Given the description of an element on the screen output the (x, y) to click on. 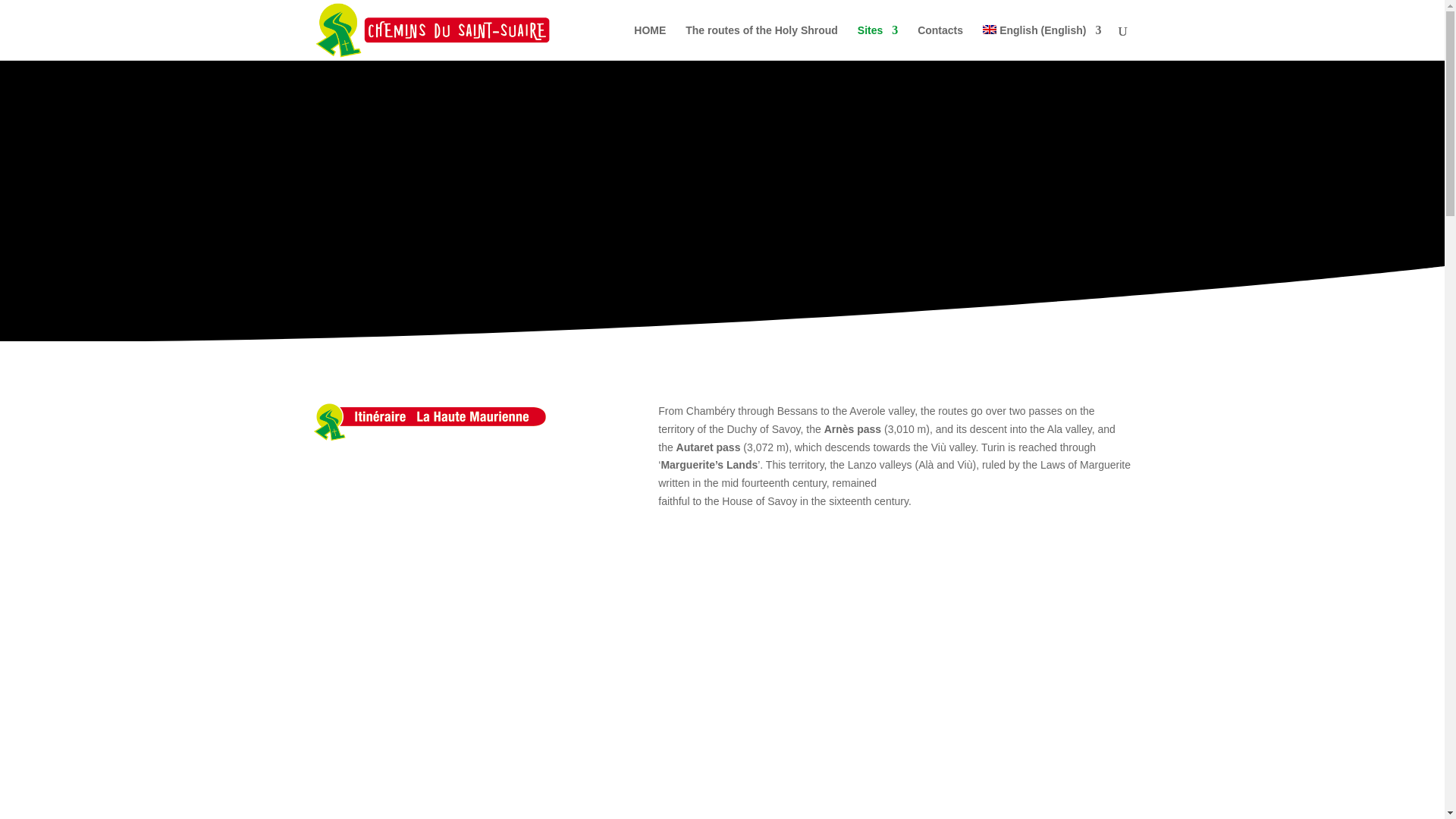
The routes of the Holy Shroud (761, 42)
Sites (877, 42)
Contacts (939, 42)
English (1042, 42)
HOME (649, 42)
